Given the description of an element on the screen output the (x, y) to click on. 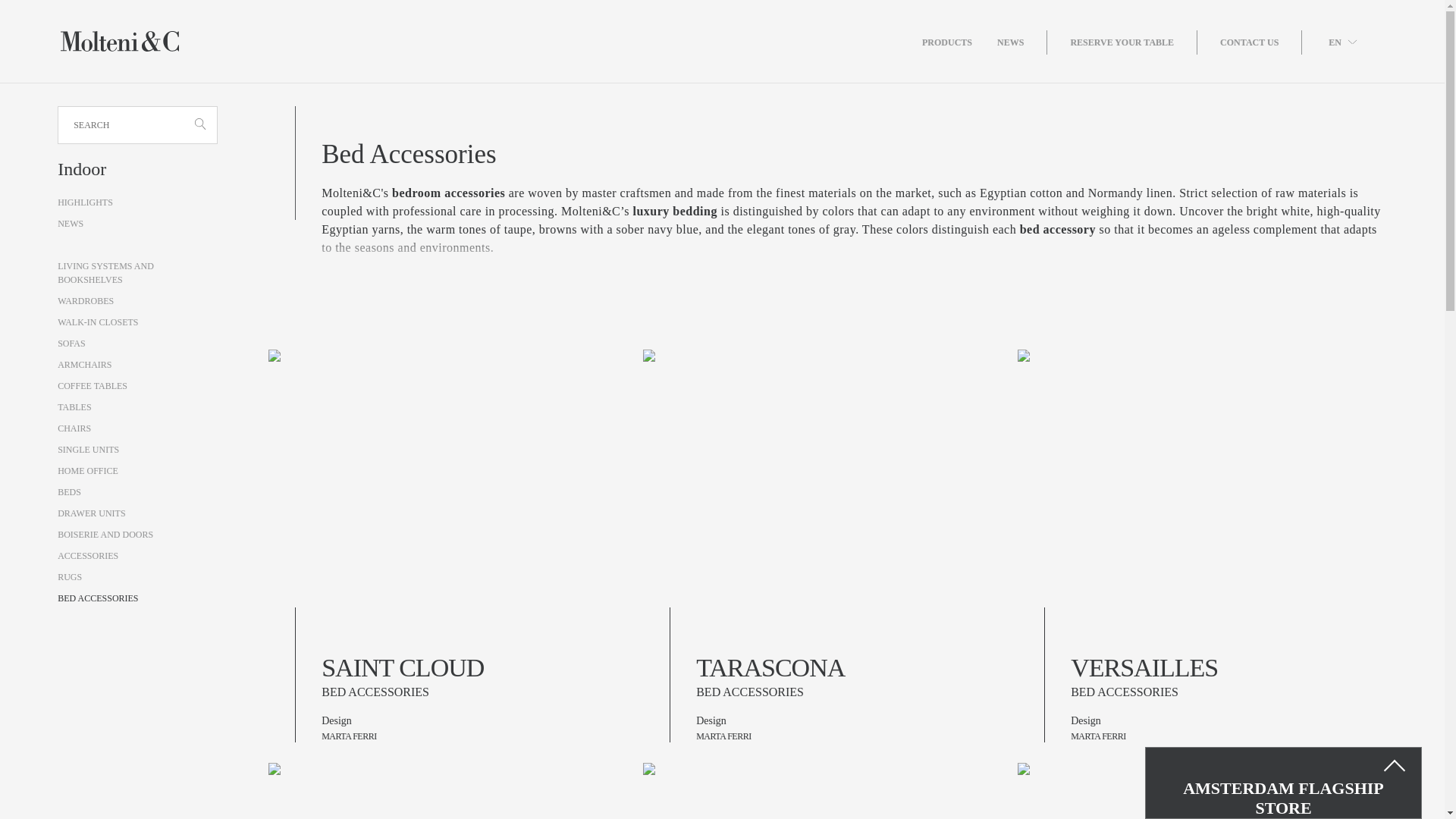
HIGHLIGHTS (85, 202)
NEWS (70, 223)
EN (1341, 41)
WARDROBES (85, 300)
ARMCHAIRS (85, 364)
PRODUCTS (959, 42)
RESERVE YOUR TABLE (1133, 42)
NEWS (1021, 42)
CONTACT US (1260, 42)
SOFAS (71, 343)
